Given the description of an element on the screen output the (x, y) to click on. 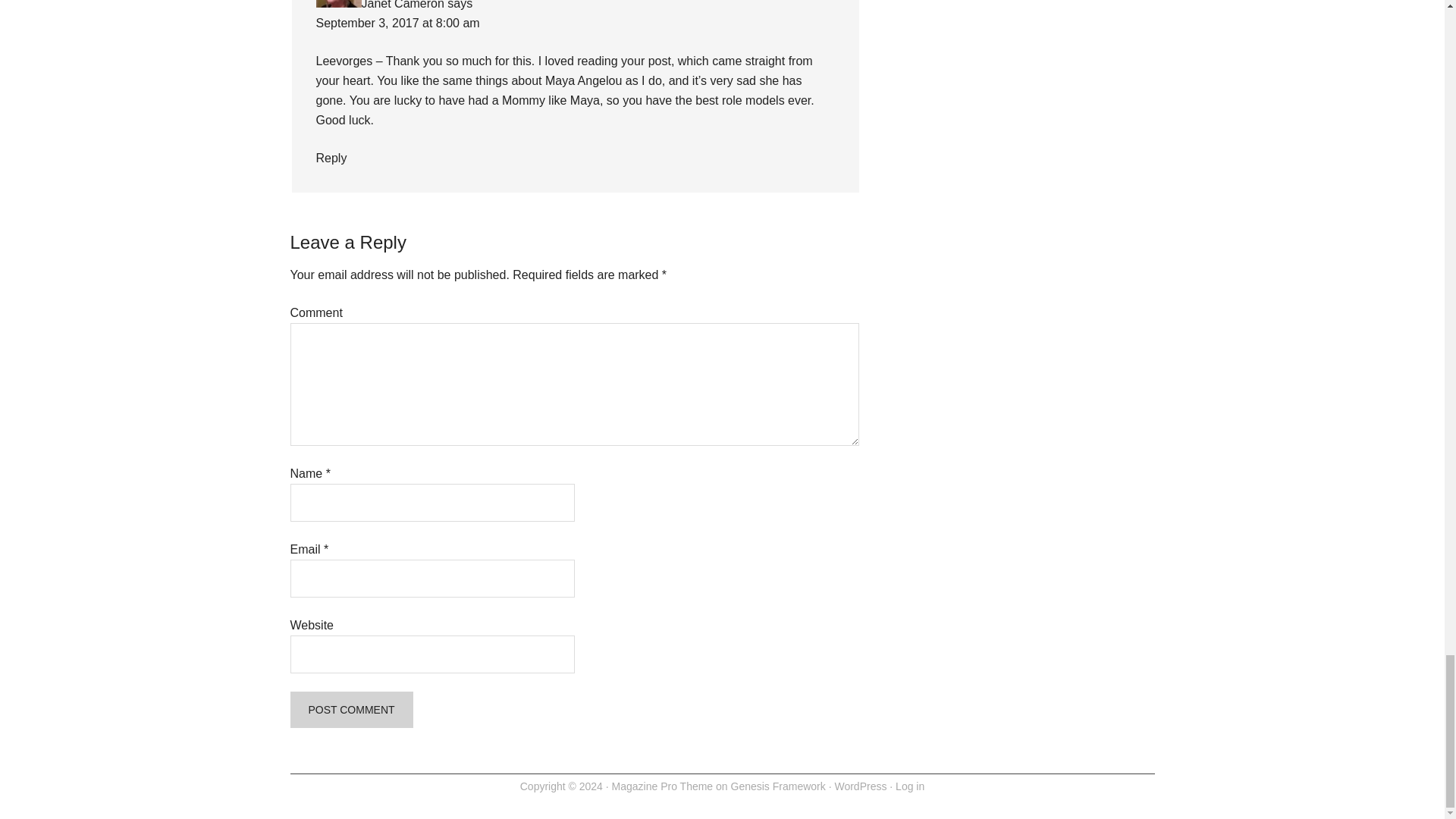
Post Comment (350, 709)
